Given the description of an element on the screen output the (x, y) to click on. 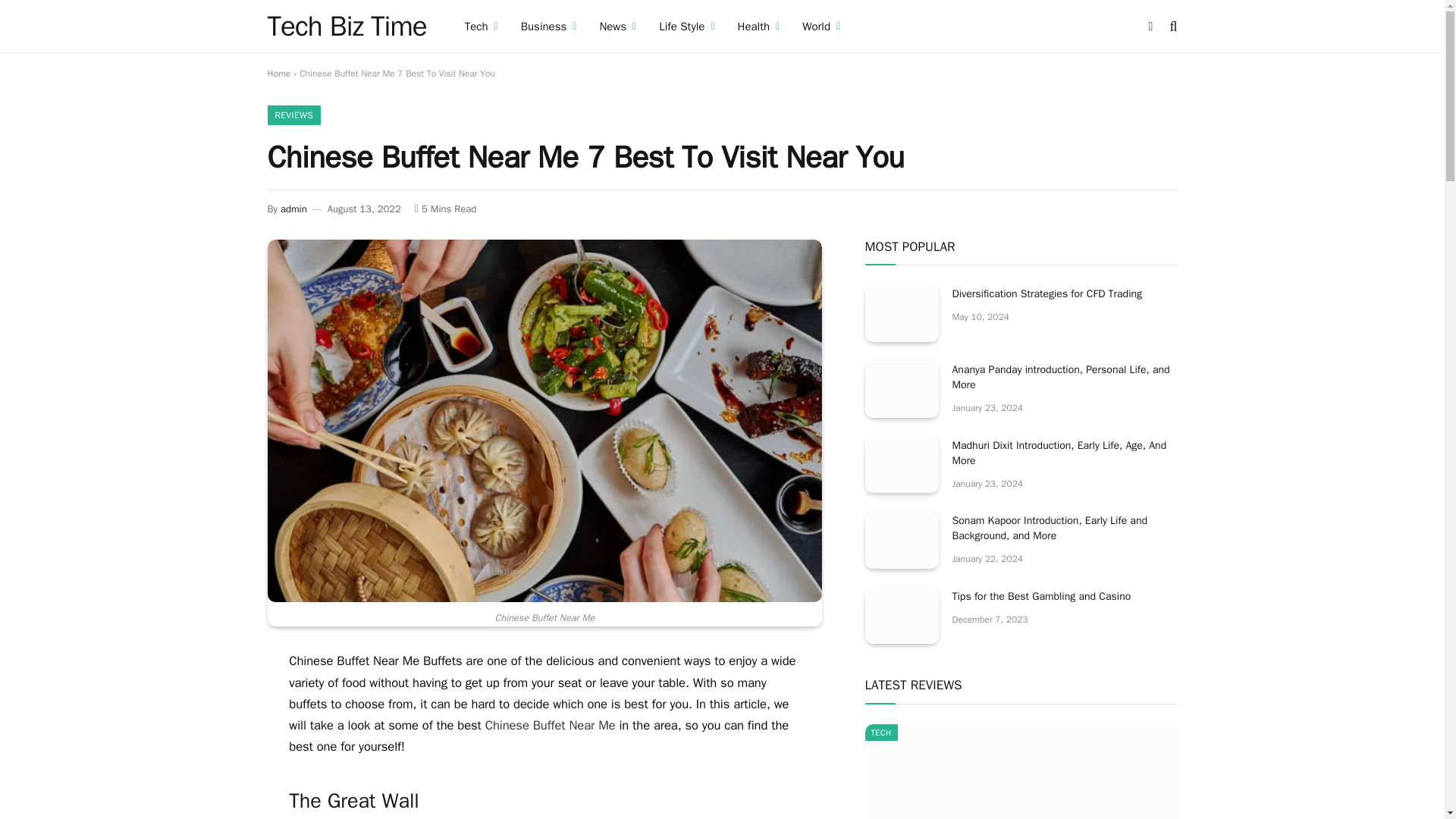
Tech Biz Time (346, 25)
Tech (480, 26)
